Given the description of an element on the screen output the (x, y) to click on. 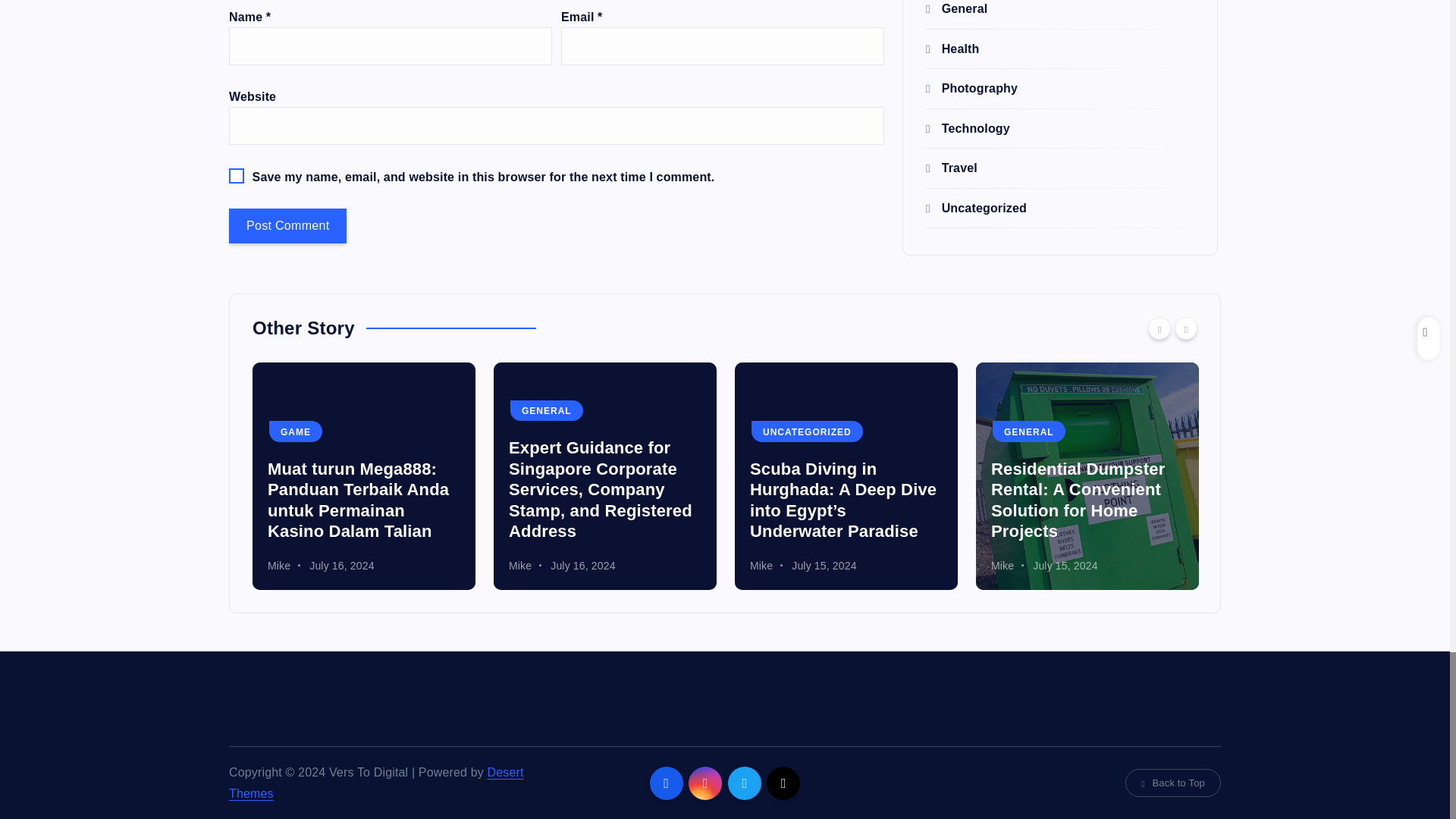
Post Comment (287, 225)
Post Comment (287, 225)
yes (236, 175)
